Given the description of an element on the screen output the (x, y) to click on. 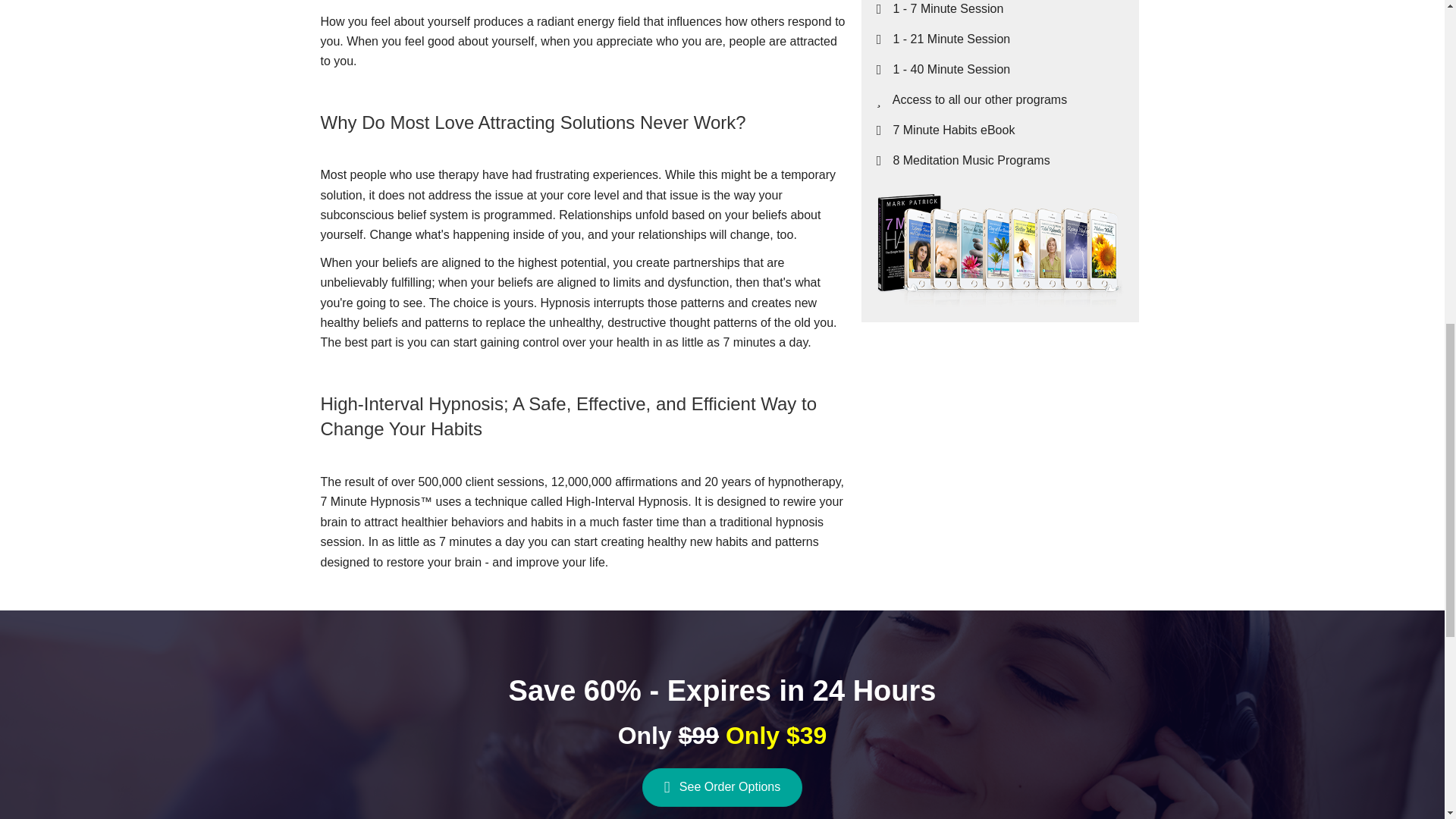
See Order Options (722, 787)
Bonsues-Collage-Book (1000, 250)
